Given the description of an element on the screen output the (x, y) to click on. 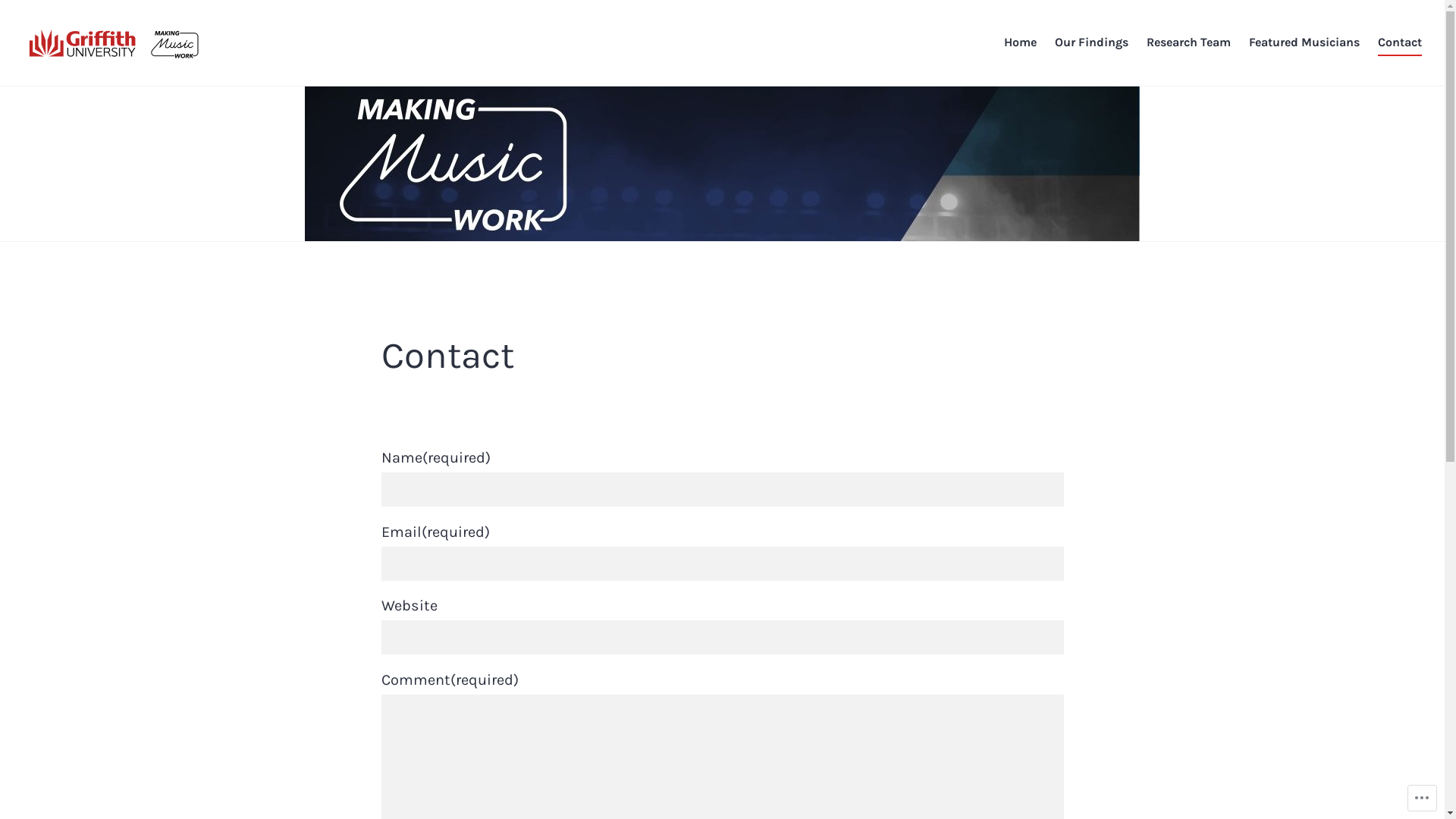
Please enter a valid URL - https://www.example.com Element type: hover (721, 637)
Making Music Work Element type: text (107, 83)
Featured Musicians Element type: text (1303, 43)
Research Team Element type: text (1188, 43)
Home Element type: text (1020, 43)
Our Findings Element type: text (1091, 43)
Contact Element type: text (1399, 43)
